Given the description of an element on the screen output the (x, y) to click on. 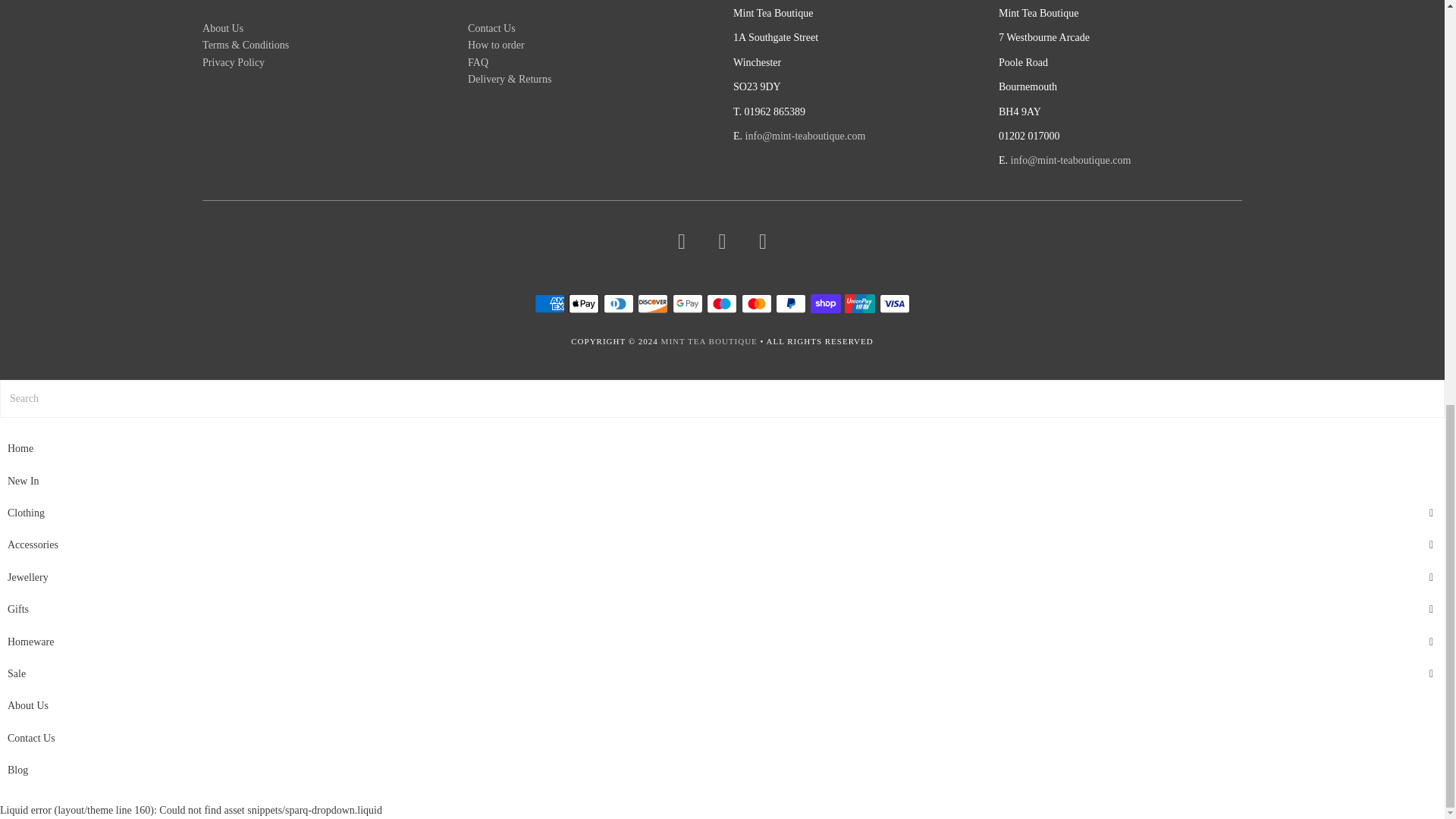
Visa (894, 303)
Discover (652, 303)
PayPal (791, 303)
Mastercard (756, 303)
Apple Pay (583, 303)
American Express (549, 303)
Google Pay (687, 303)
Maestro (721, 303)
Diners Club (618, 303)
Union Pay (859, 303)
Shop Pay (825, 303)
